Given the description of an element on the screen output the (x, y) to click on. 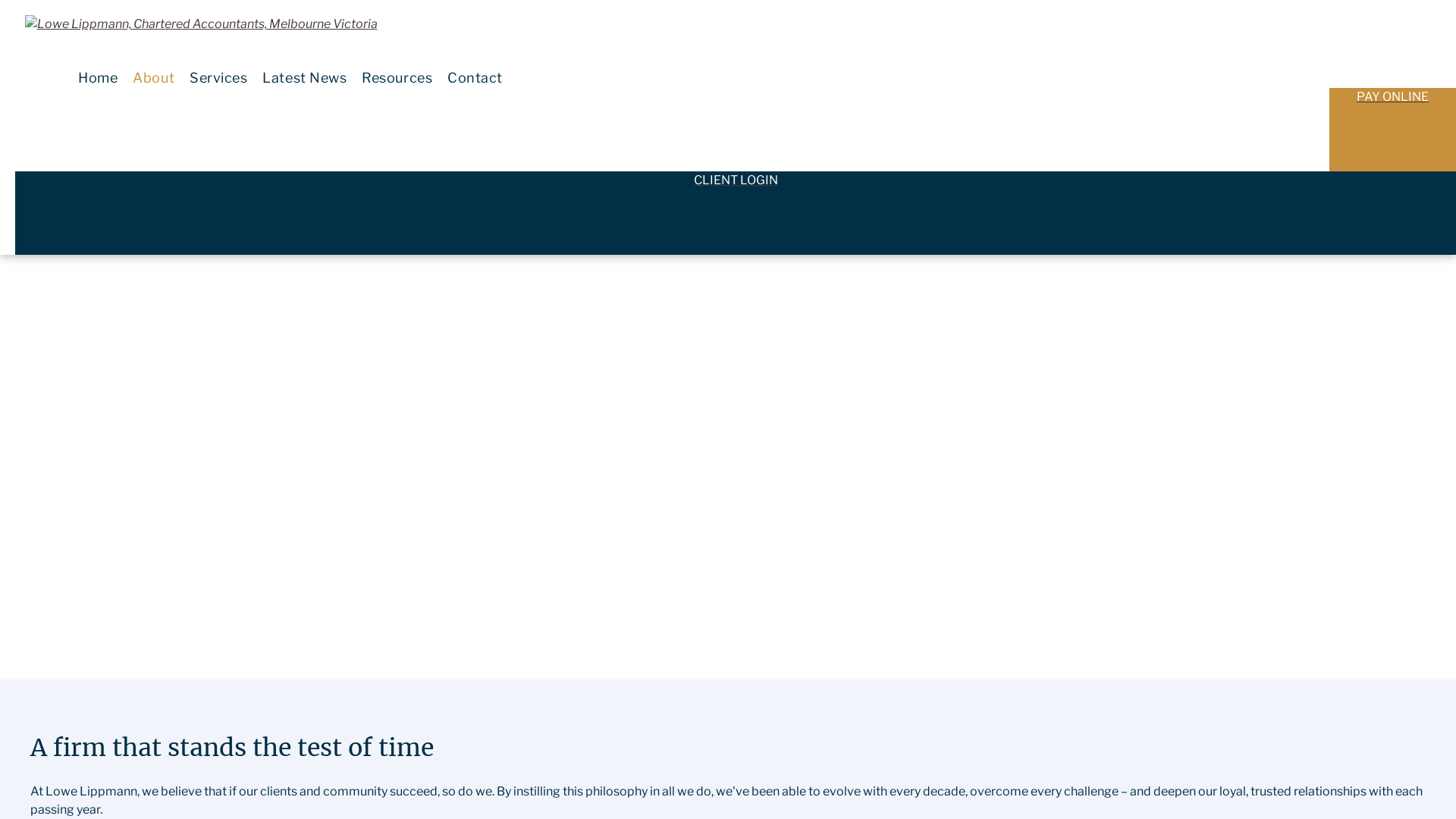
Resources Element type: text (396, 77)
Home Element type: text (97, 77)
Contact Element type: text (474, 77)
Services Element type: text (218, 77)
Latest News Element type: text (304, 77)
About Element type: text (153, 77)
